Given the description of an element on the screen output the (x, y) to click on. 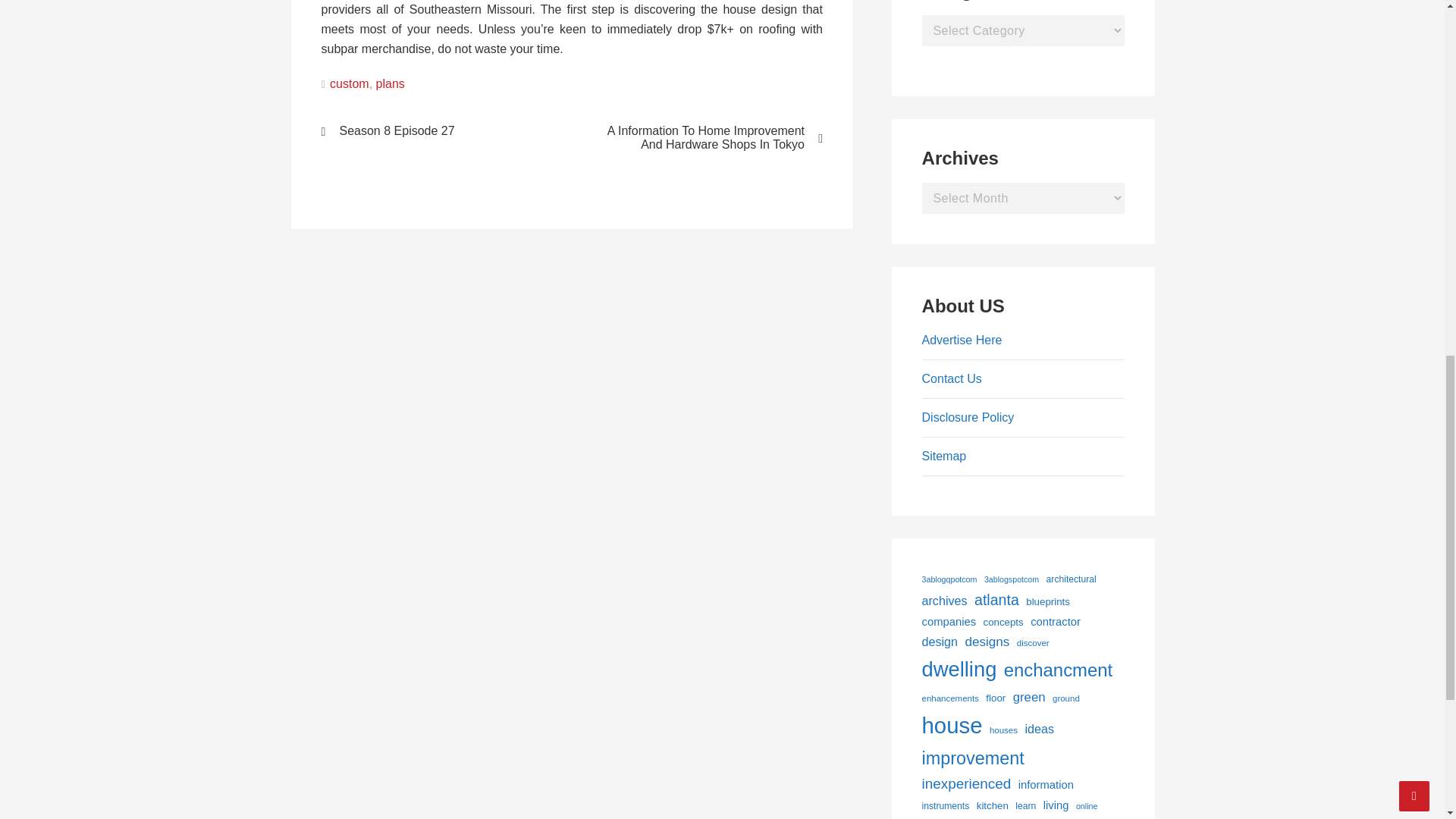
custom (349, 83)
plans (389, 83)
Season 8 Episode 27 (436, 131)
